Given the description of an element on the screen output the (x, y) to click on. 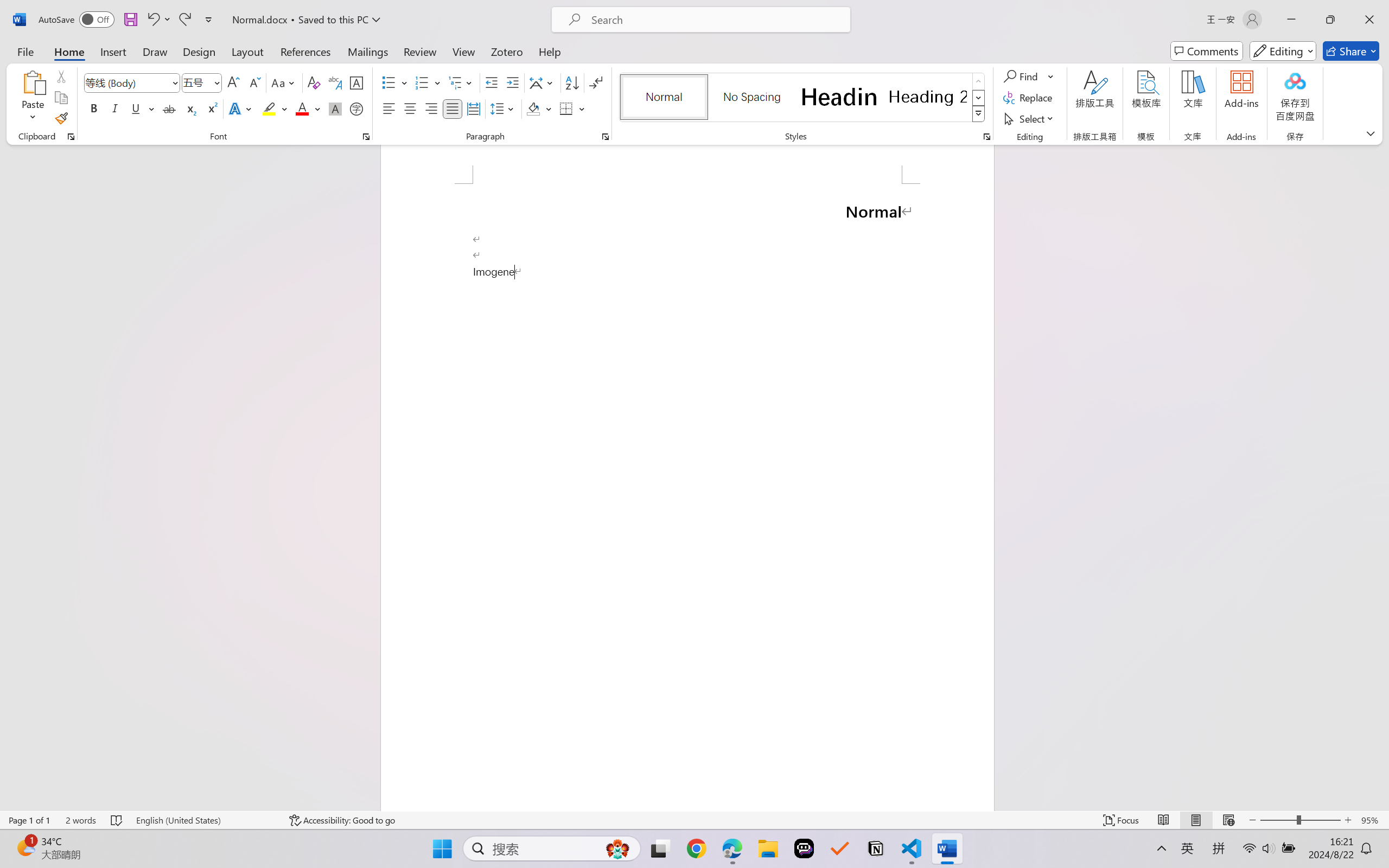
Text Highlight Color (274, 108)
Clear Formatting (313, 82)
Character Shading (334, 108)
Undo Typing (152, 19)
Font Color RGB(255, 0, 0) (302, 108)
